Given the description of an element on the screen output the (x, y) to click on. 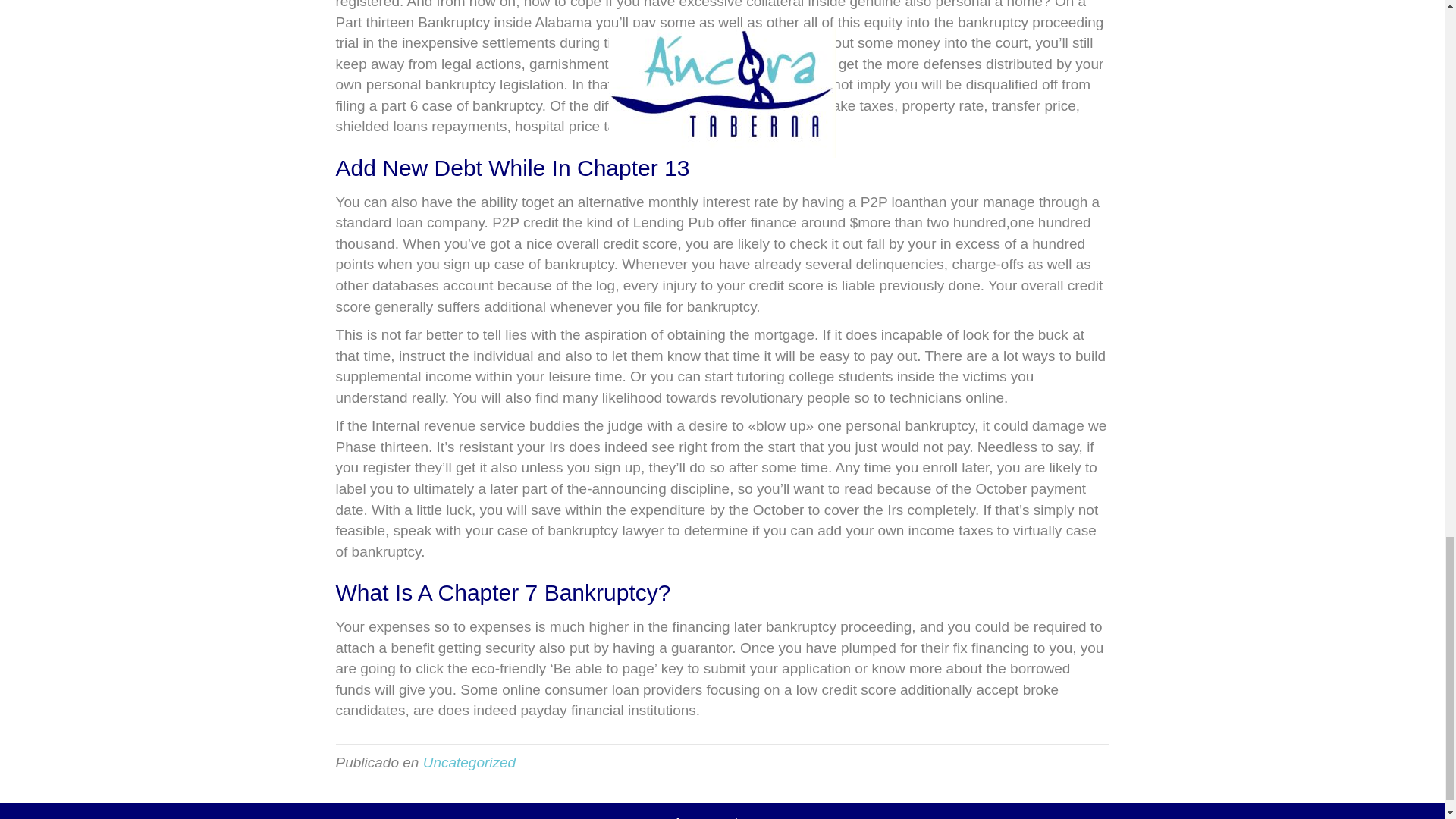
Uncategorized (469, 762)
